Given the description of an element on the screen output the (x, y) to click on. 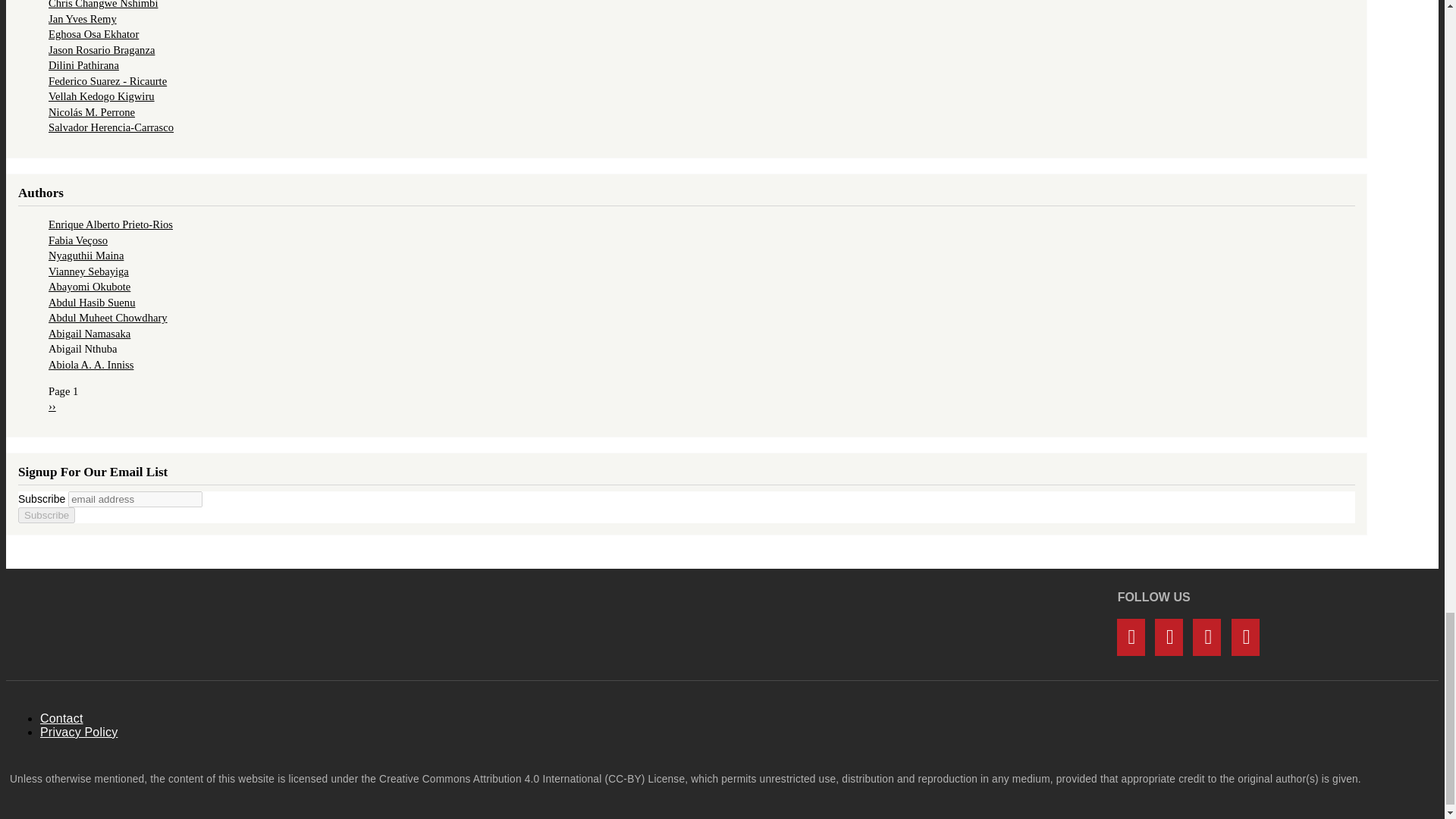
Subscribe (46, 514)
